Given the description of an element on the screen output the (x, y) to click on. 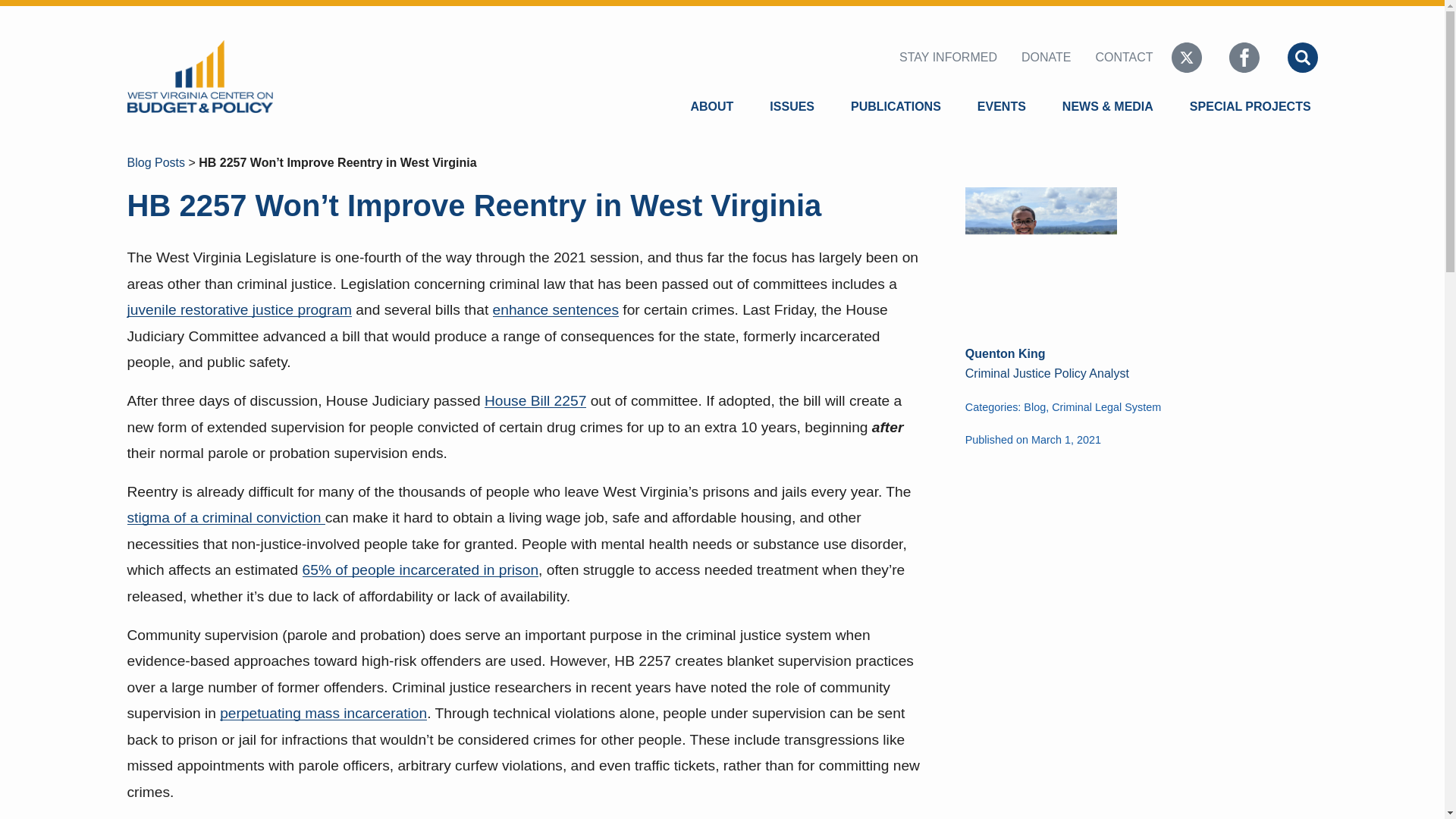
PUBLICATIONS (895, 106)
STAY INFORMED (951, 57)
Donate (1045, 57)
Contact (1123, 57)
Search (1260, 44)
Like Us on Facebook (1244, 57)
ISSUES (791, 106)
Stay Informed (951, 57)
CONTACT (1123, 57)
EVENTS (1001, 106)
